Given the description of an element on the screen output the (x, y) to click on. 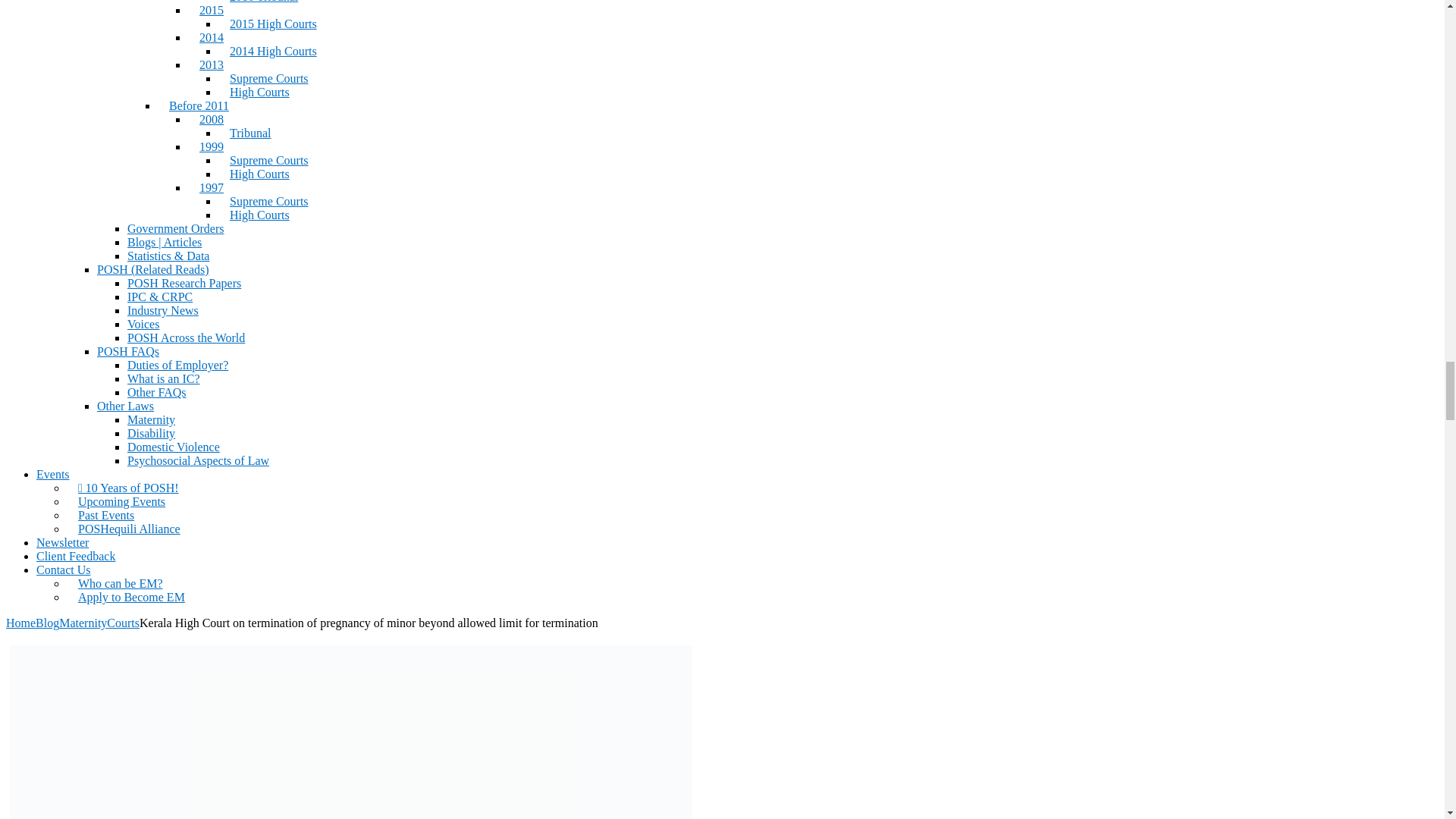
Blog (46, 622)
Home (19, 622)
Maternity (82, 622)
Courts (122, 622)
